Given the description of an element on the screen output the (x, y) to click on. 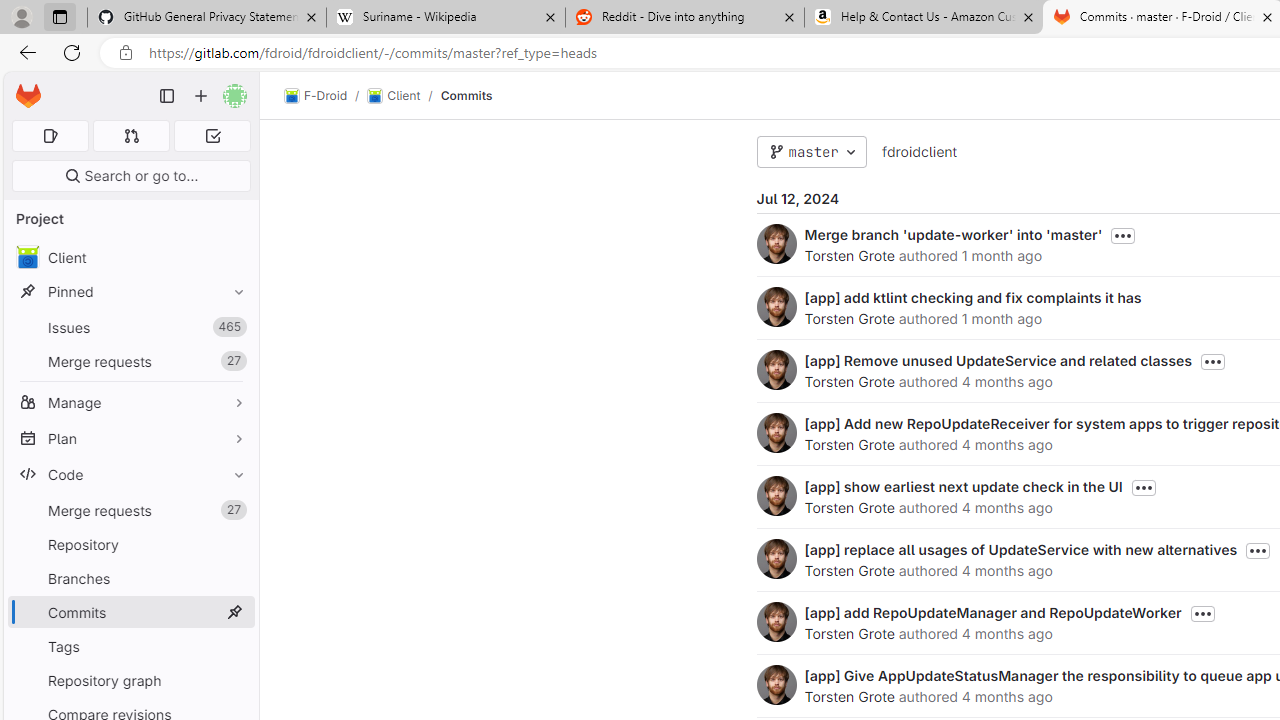
Pin Commits (234, 611)
Branches (130, 578)
Merge requests 27 (130, 510)
Plan (130, 438)
Plan (130, 438)
Unpin Issues (234, 327)
Torsten Grote's avatar (776, 684)
Torsten Grote (848, 696)
[app] add RepoUpdateManager and RepoUpdateWorker (992, 612)
Repository graph (130, 679)
Pin Repository graph (234, 680)
GitHub General Privacy Statement - GitHub Docs (207, 17)
